Given the description of an element on the screen output the (x, y) to click on. 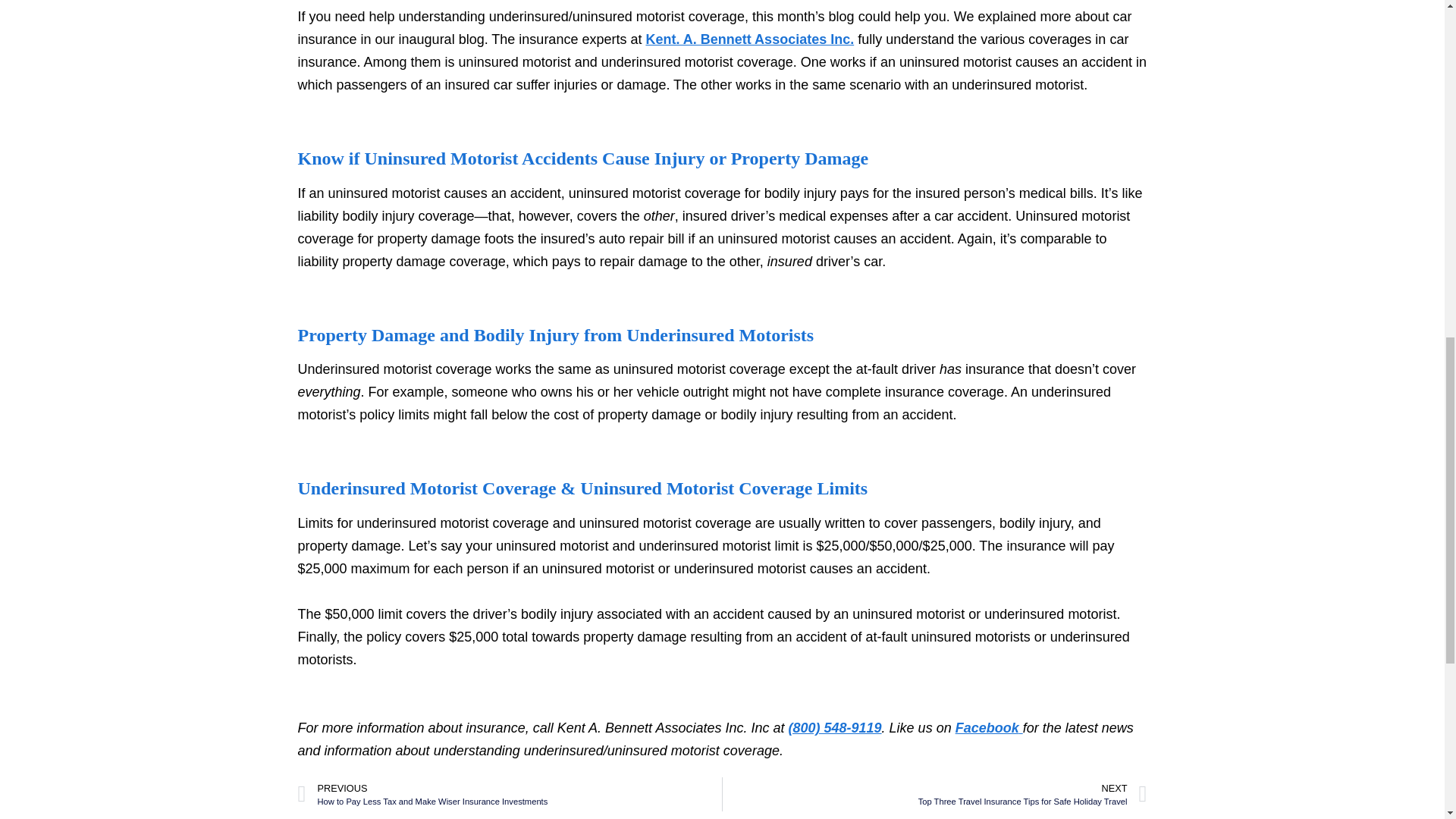
Kent. A. Bennett Associates Inc. (749, 38)
Facebook (934, 794)
